Given the description of an element on the screen output the (x, y) to click on. 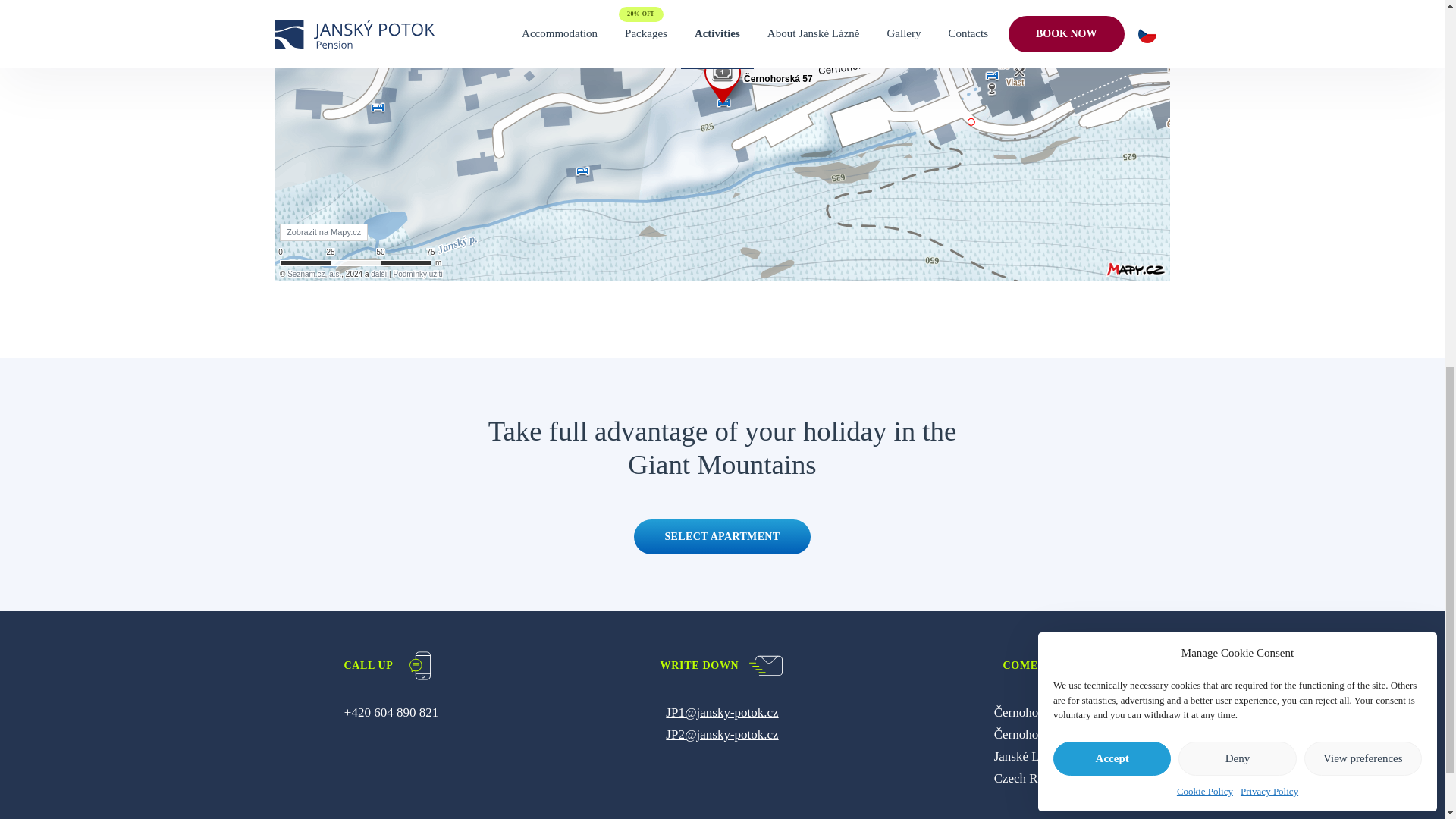
View preferences (1363, 40)
Privacy Policy (1269, 73)
Accept (1111, 40)
SELECT APARTMENT (721, 536)
Deny (1236, 40)
Cookie Policy (1204, 73)
